Given the description of an element on the screen output the (x, y) to click on. 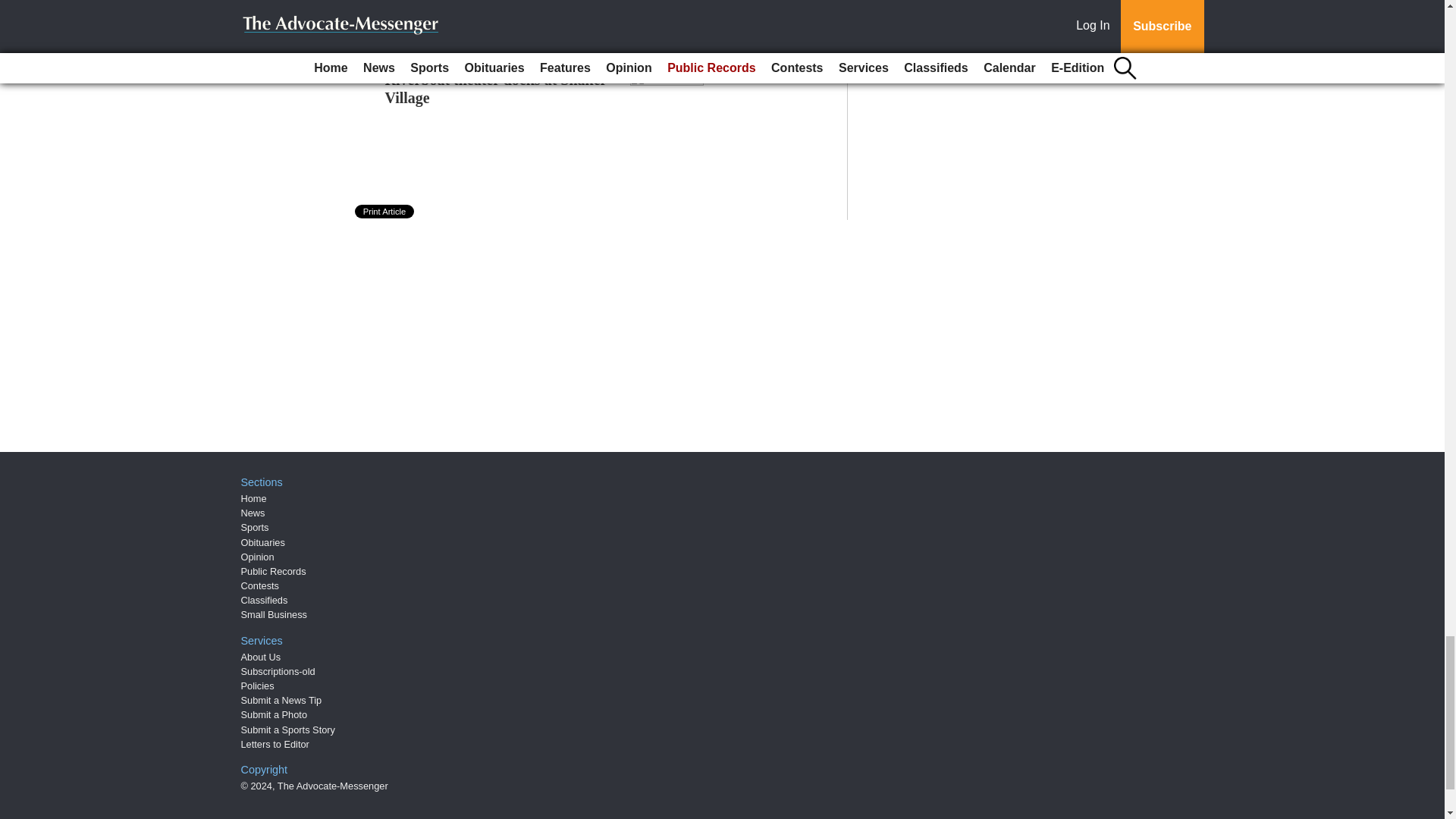
Riverboat theater docks at Shaker Village (496, 88)
Print Article (384, 211)
Riverboat theater docks at Shaker Village (496, 88)
